Given the description of an element on the screen output the (x, y) to click on. 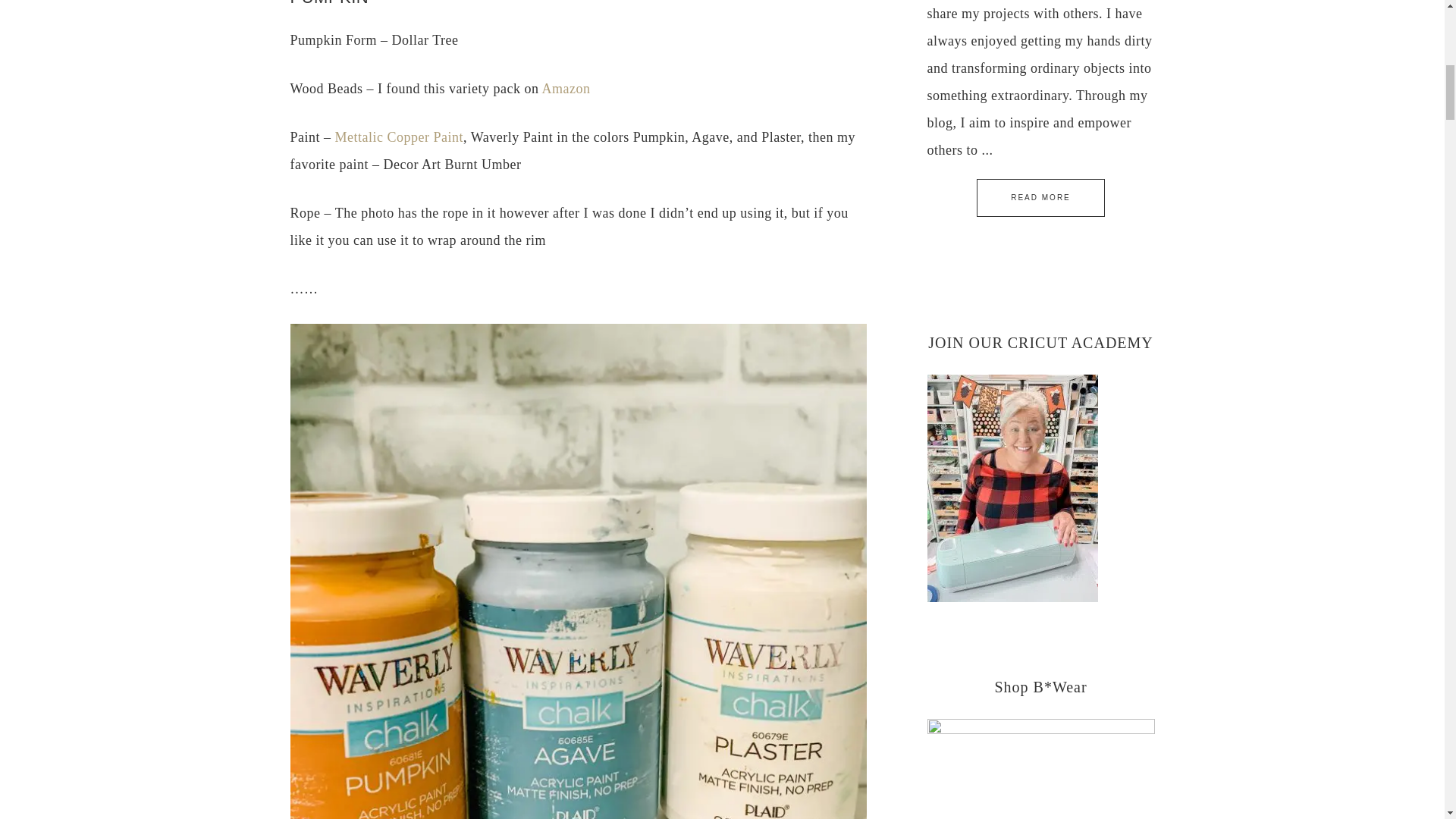
Mettalic Copper Paint (398, 136)
Amazon (565, 88)
